Given the description of an element on the screen output the (x, y) to click on. 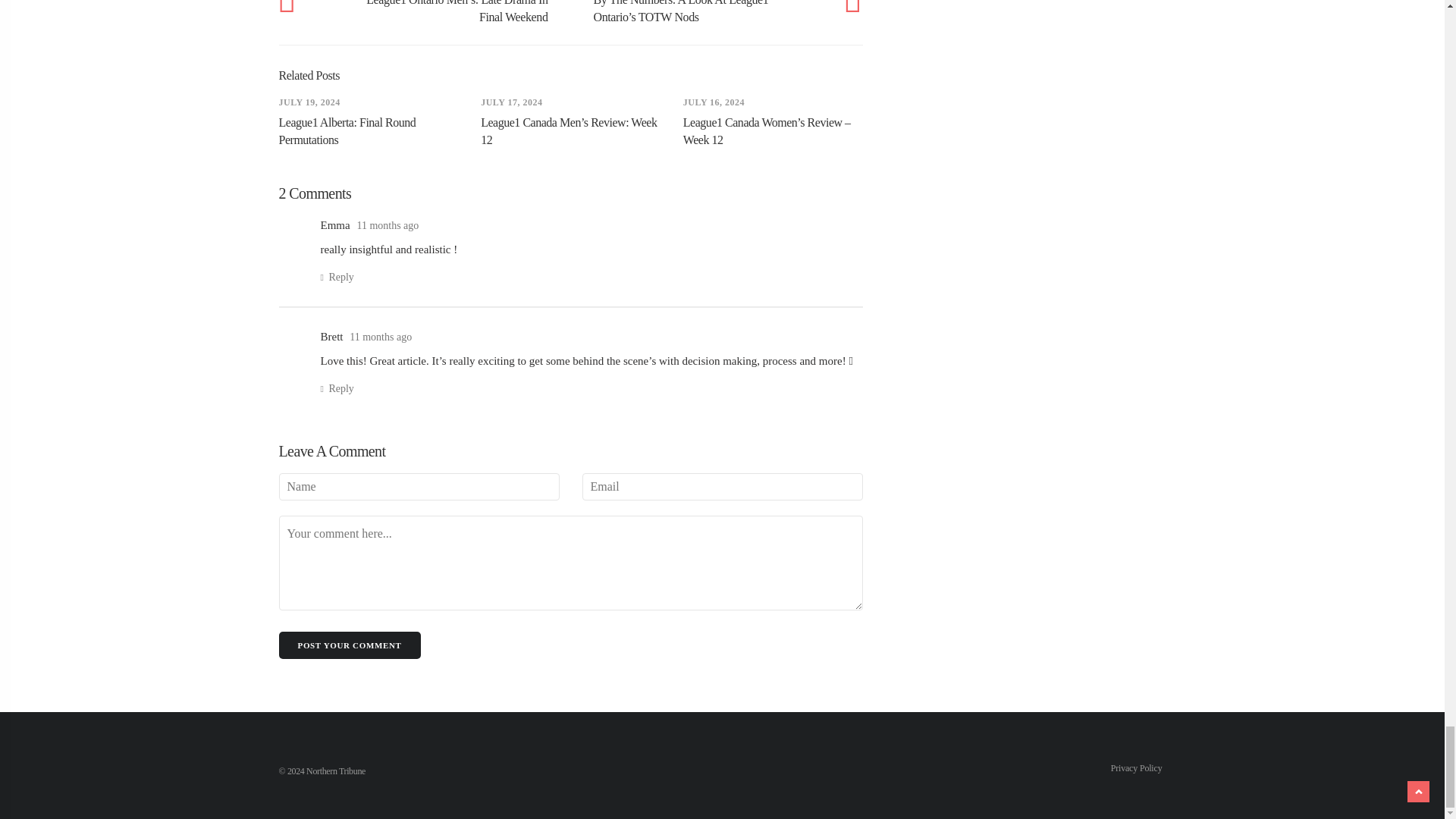
League1 Alberta: Final Round Permutations (347, 131)
Emma (334, 224)
